Given the description of an element on the screen output the (x, y) to click on. 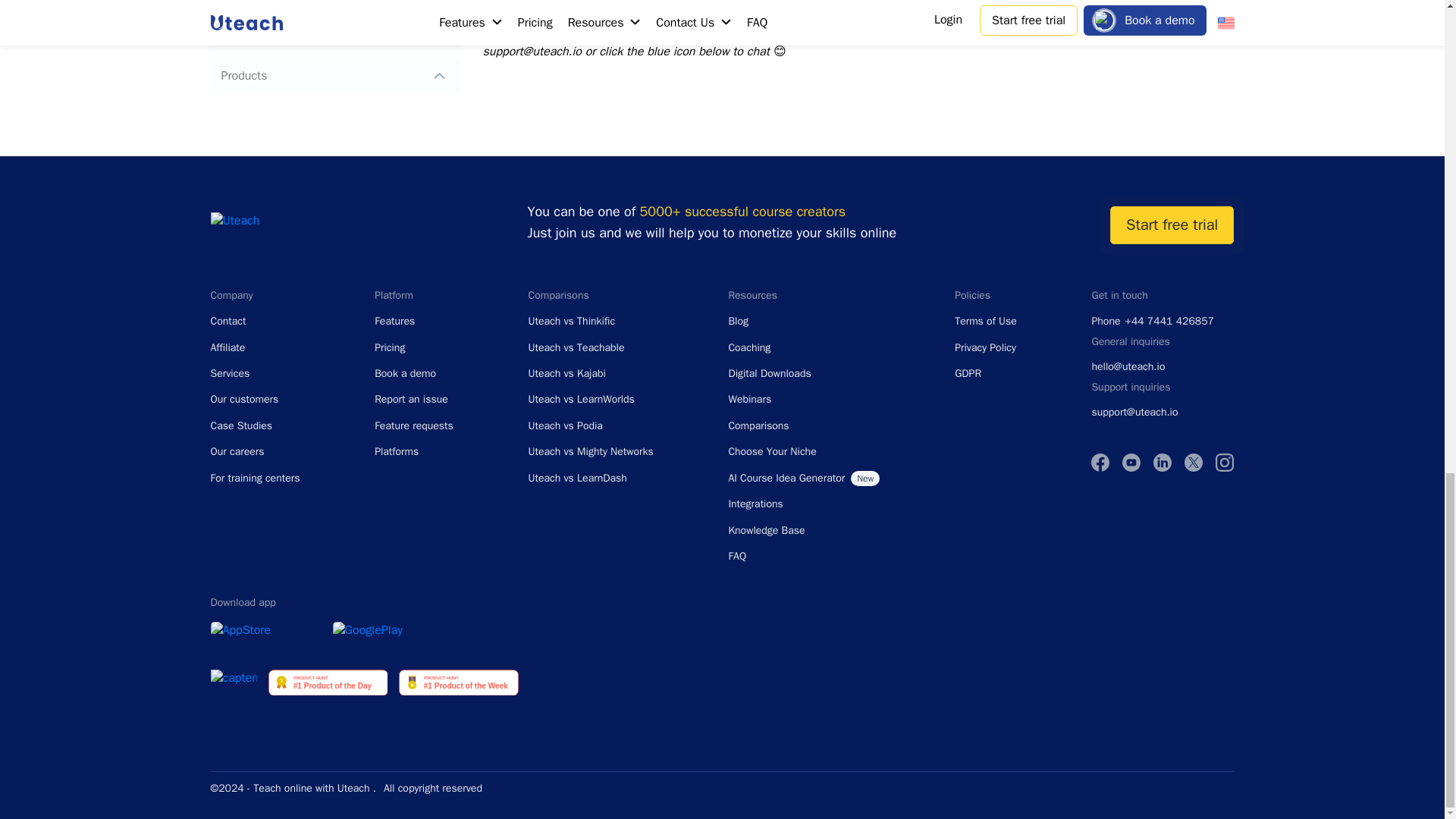
linkedin (1162, 462)
youtube (1131, 462)
instagram (1224, 462)
facebook (1099, 462)
X (1193, 462)
